Given the description of an element on the screen output the (x, y) to click on. 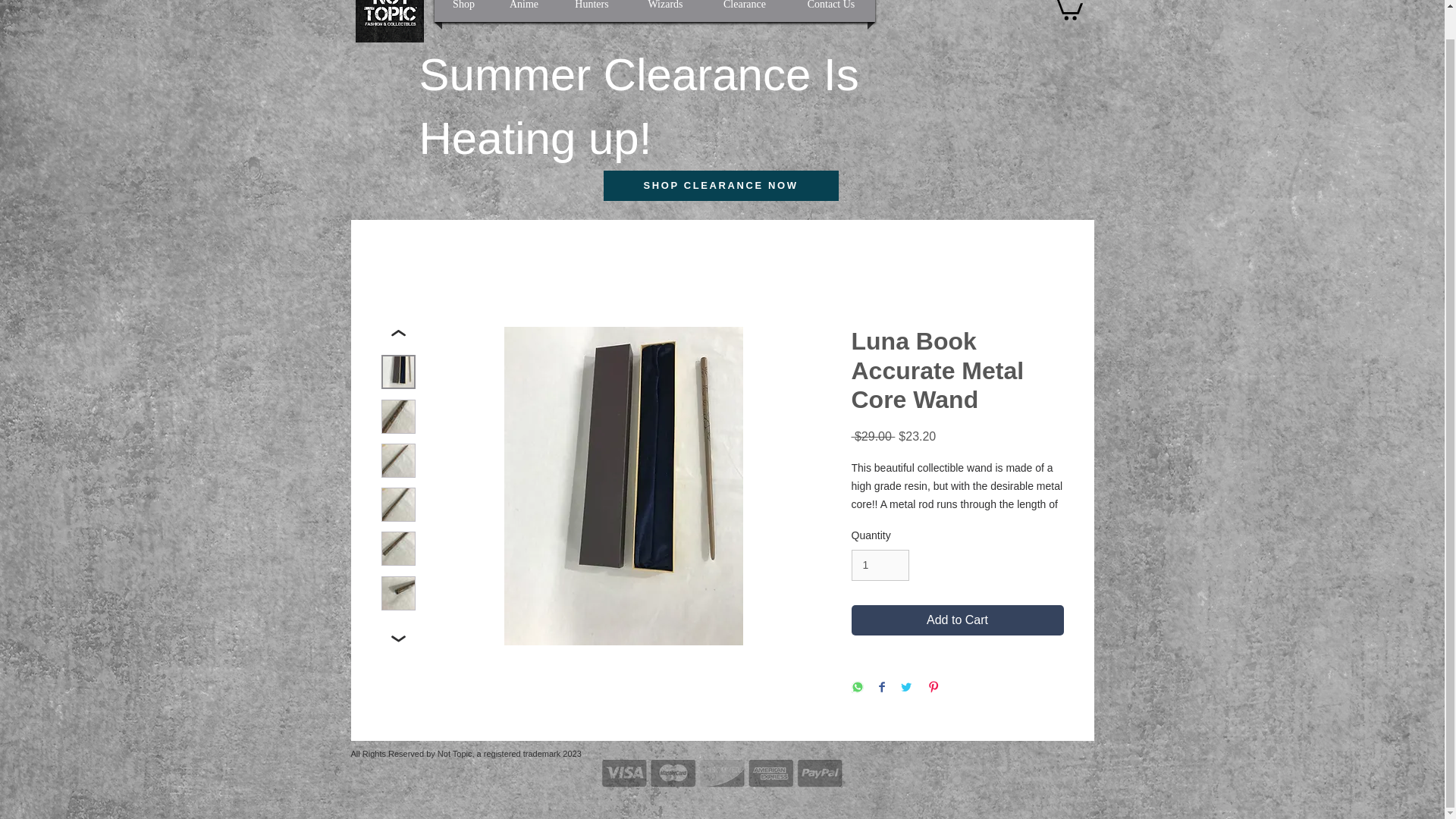
Wizards (664, 11)
Clearance (743, 11)
Not Topic Square logo take 2-01.png (389, 21)
Add to Cart (956, 620)
Shop (463, 11)
SHOP CLEARANCE NOW (721, 185)
Contact Us (831, 11)
Hunters (590, 11)
1 (879, 564)
Anime (524, 11)
